Given the description of an element on the screen output the (x, y) to click on. 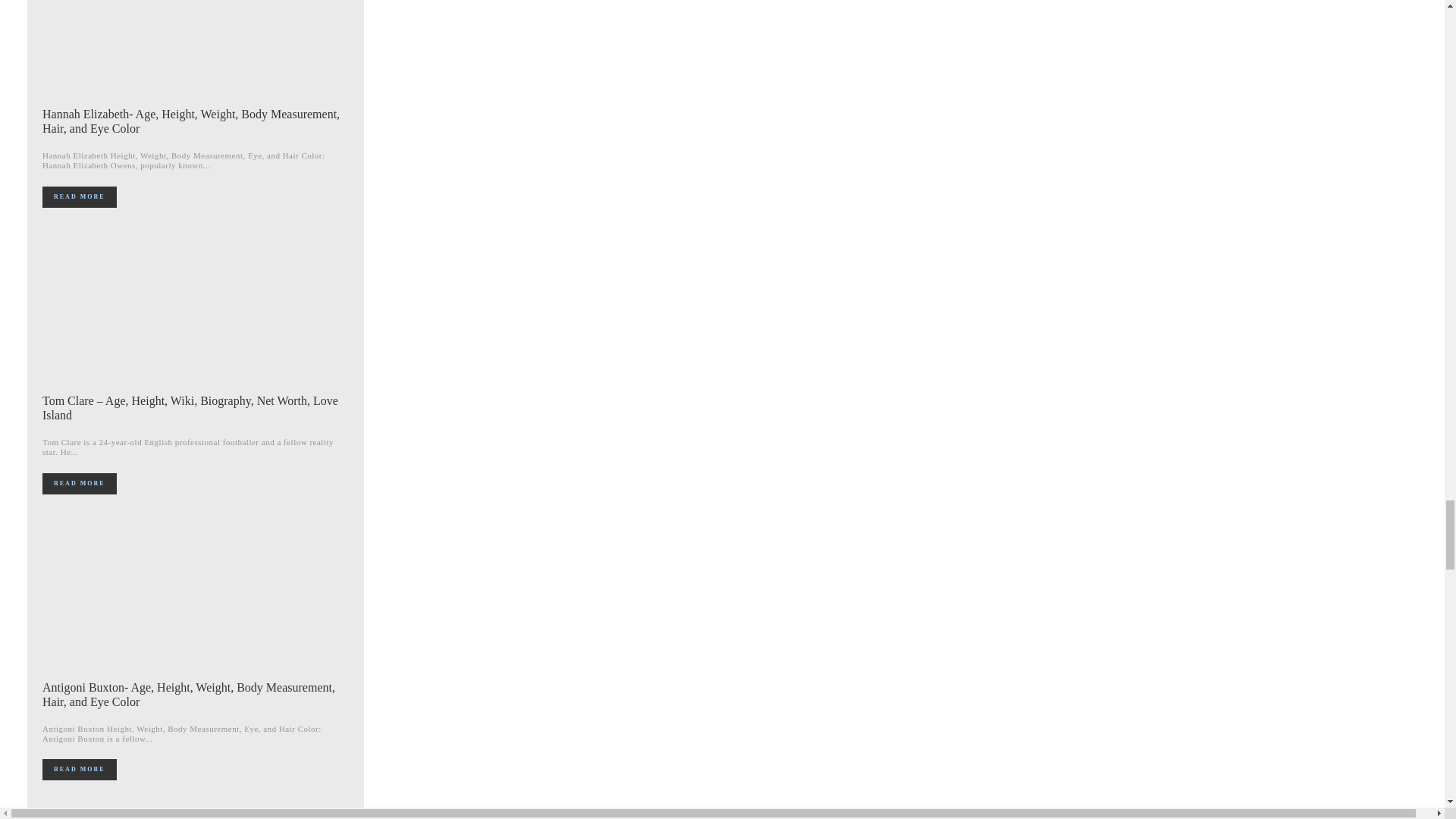
Read more (79, 483)
Read more (79, 197)
